Given the description of an element on the screen output the (x, y) to click on. 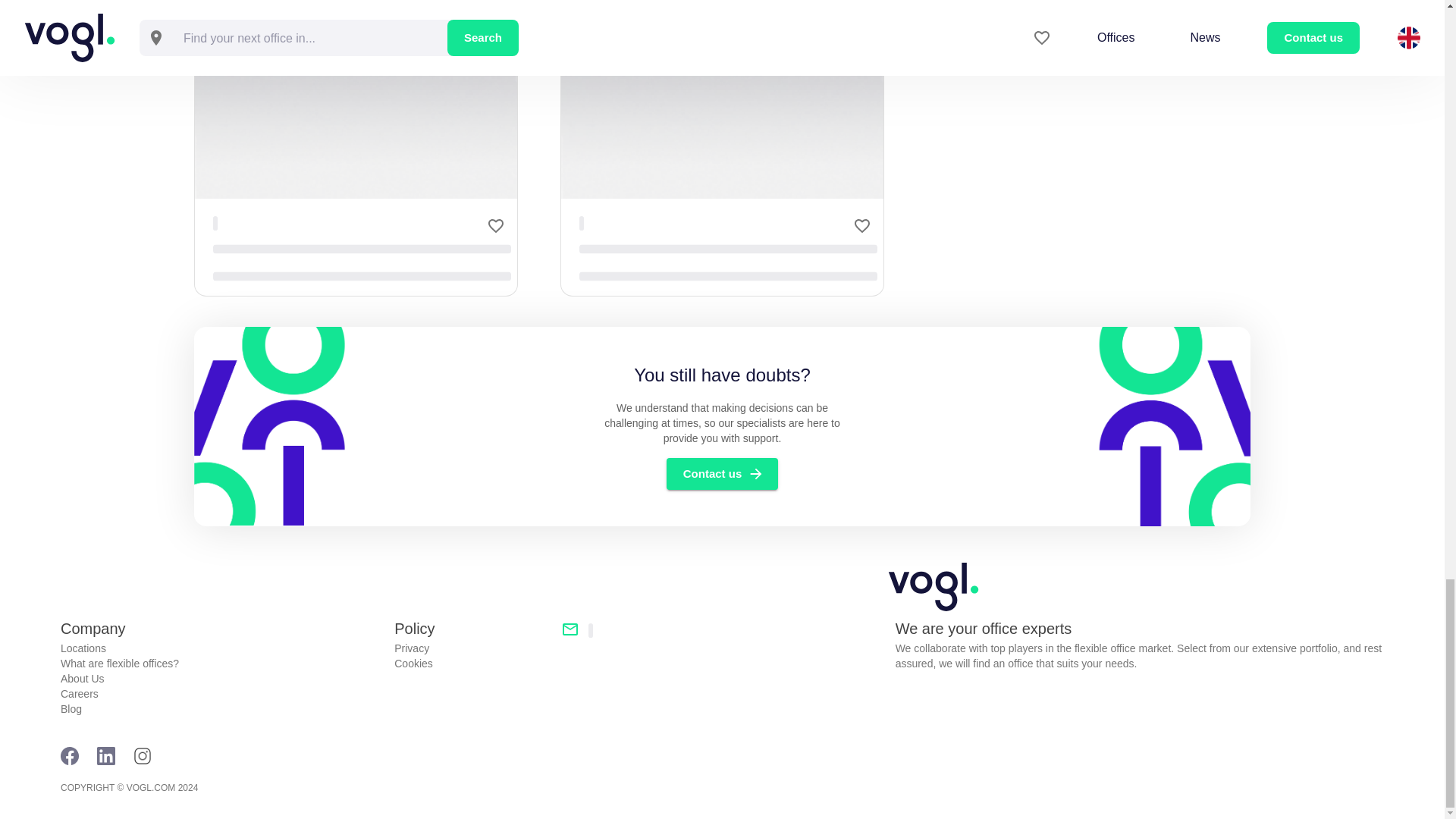
Blog (221, 708)
Cookies (471, 663)
Privacy (471, 648)
About Us (221, 678)
Locations (221, 648)
Contact us (722, 473)
Careers (221, 693)
What are flexible offices? (221, 663)
